Given the description of an element on the screen output the (x, y) to click on. 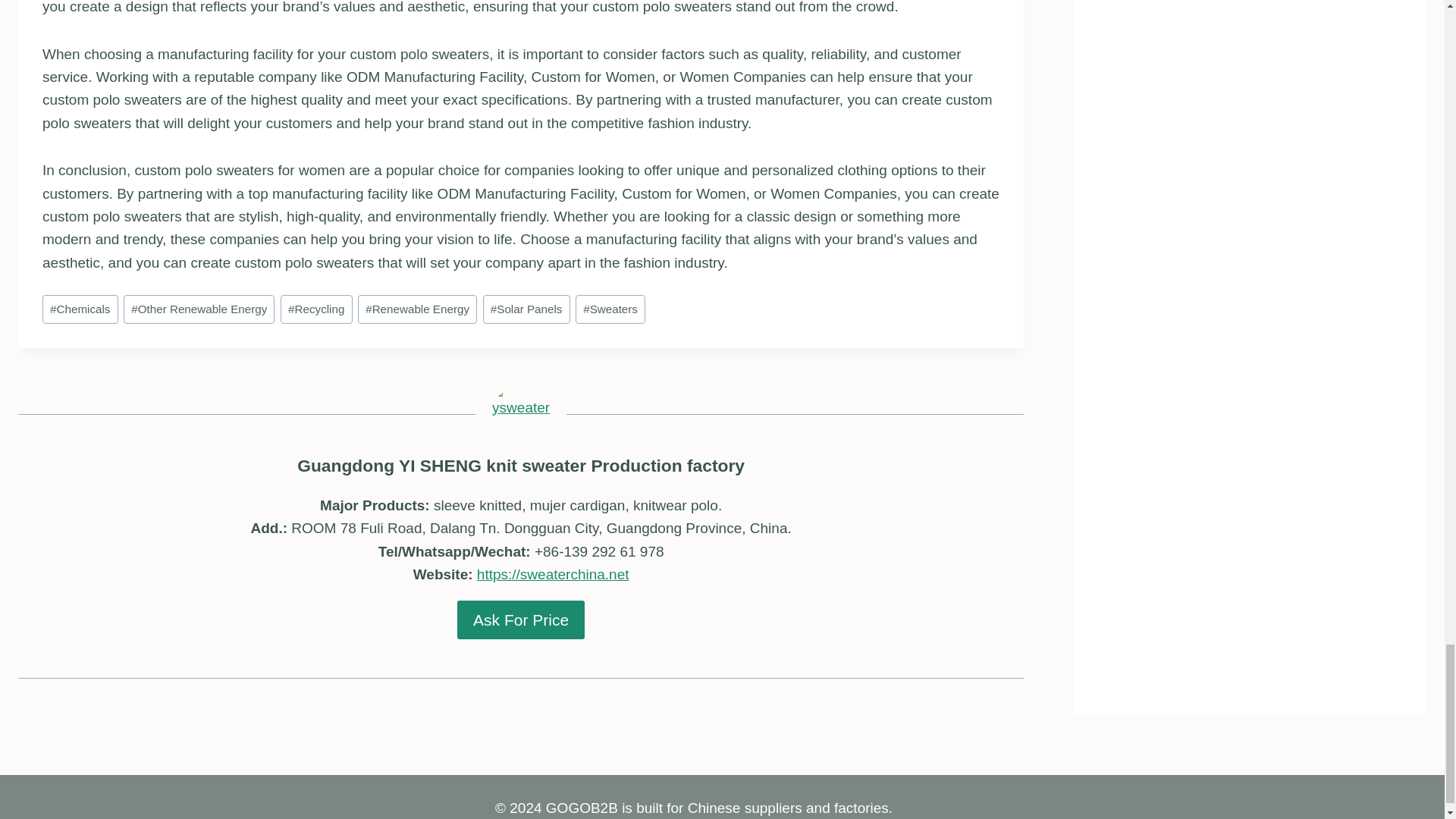
Recycling (316, 308)
Other Renewable Energy (199, 308)
Renewable Energy (417, 308)
Solar Panels (526, 308)
Chemicals (79, 308)
Sweaters (610, 308)
